Given the description of an element on the screen output the (x, y) to click on. 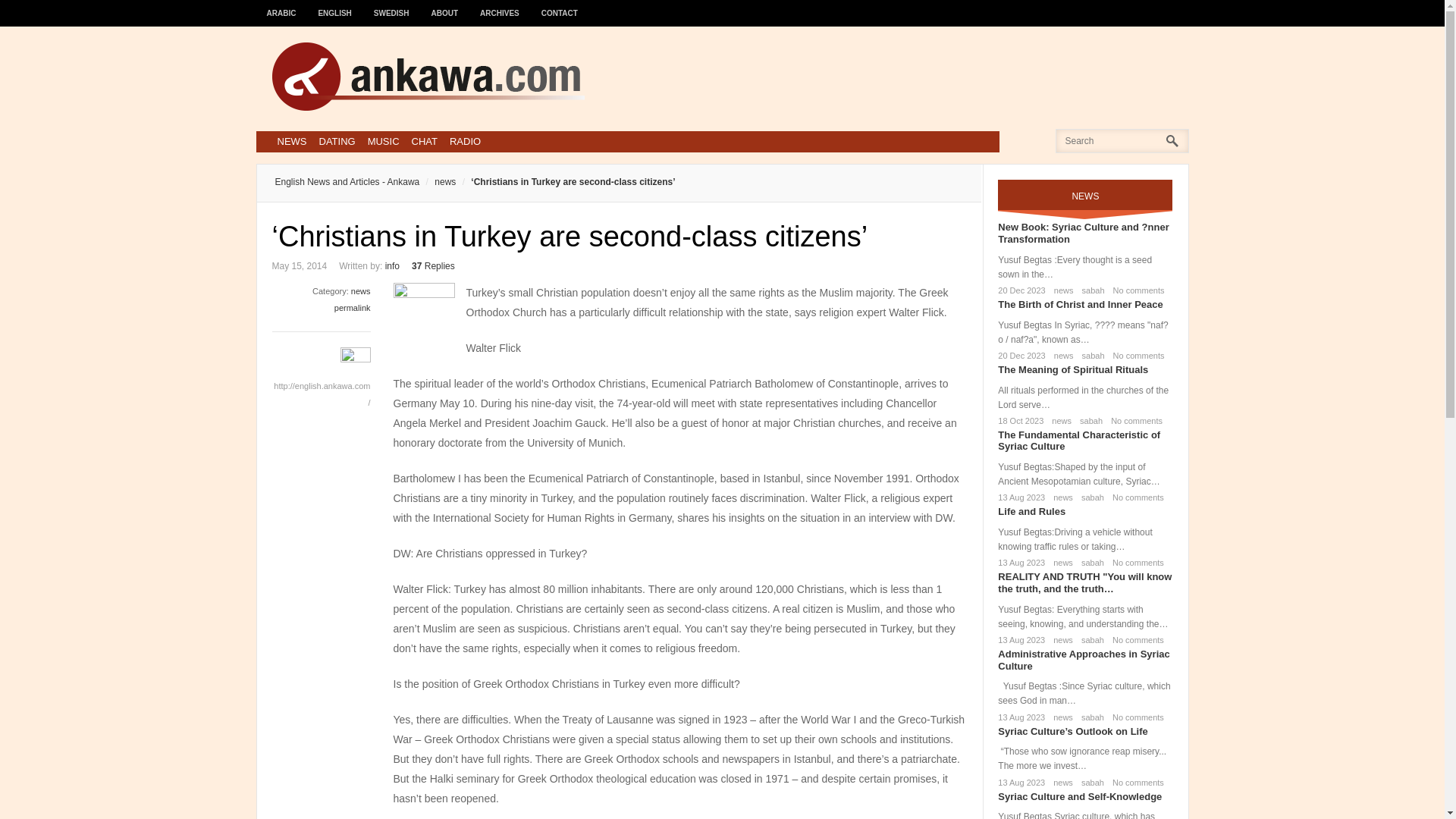
news (437, 181)
The Meaning of Spiritual Rituals (1072, 369)
No comments (1135, 355)
The Fundamental Characteristic of Syriac Culture (1078, 440)
Search (35, 15)
CONTACT (560, 5)
No comments (1135, 289)
news (1058, 420)
The Birth of Christ and Inner Peace (1079, 304)
ABOUT (445, 5)
